Given the description of an element on the screen output the (x, y) to click on. 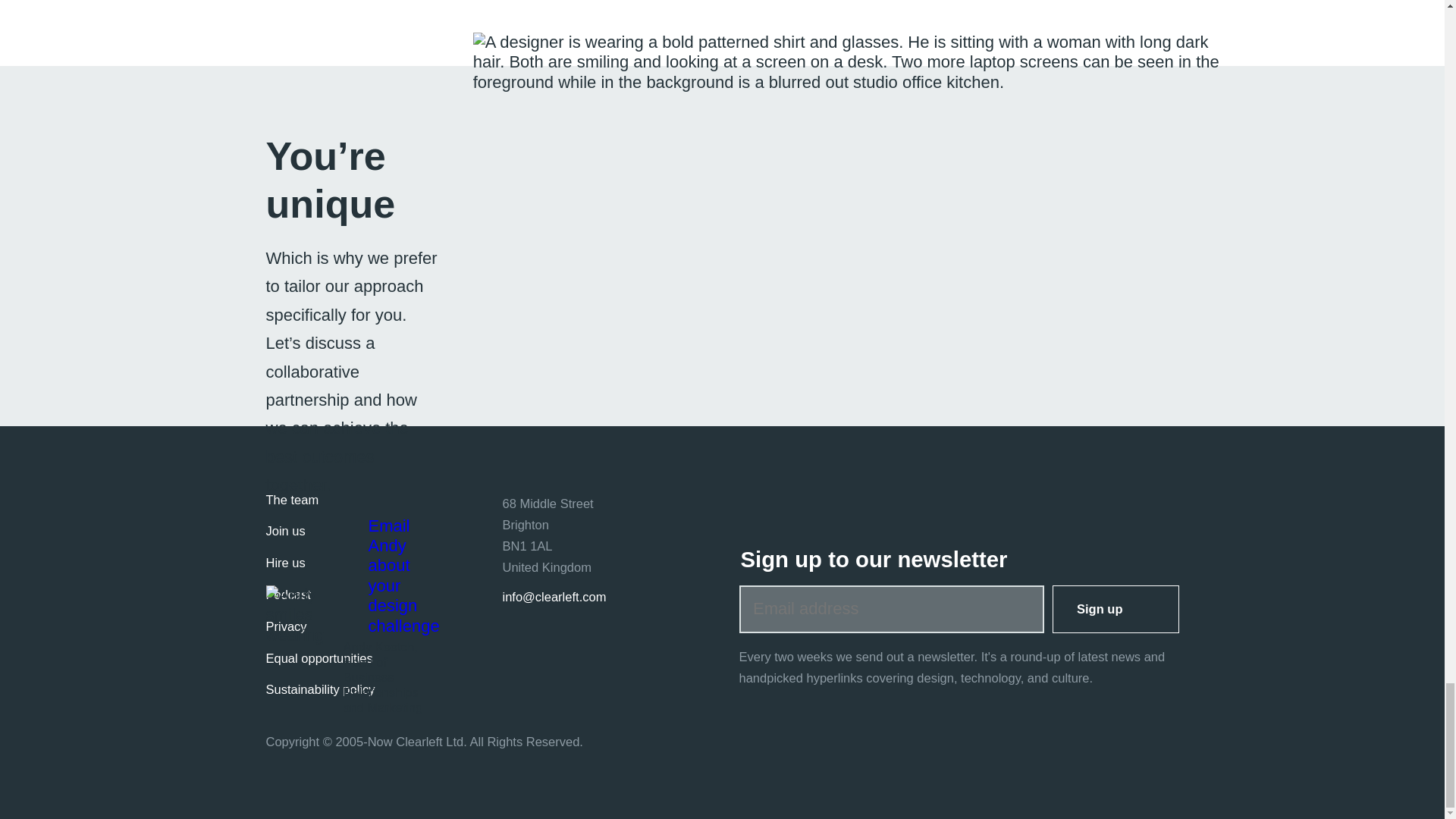
Podcast (287, 594)
Equal opportunities (318, 658)
Sign up (1115, 609)
Join us (284, 531)
Sustainability policy (319, 689)
Hire us (284, 563)
Privacy (284, 626)
The team (291, 499)
